Given the description of an element on the screen output the (x, y) to click on. 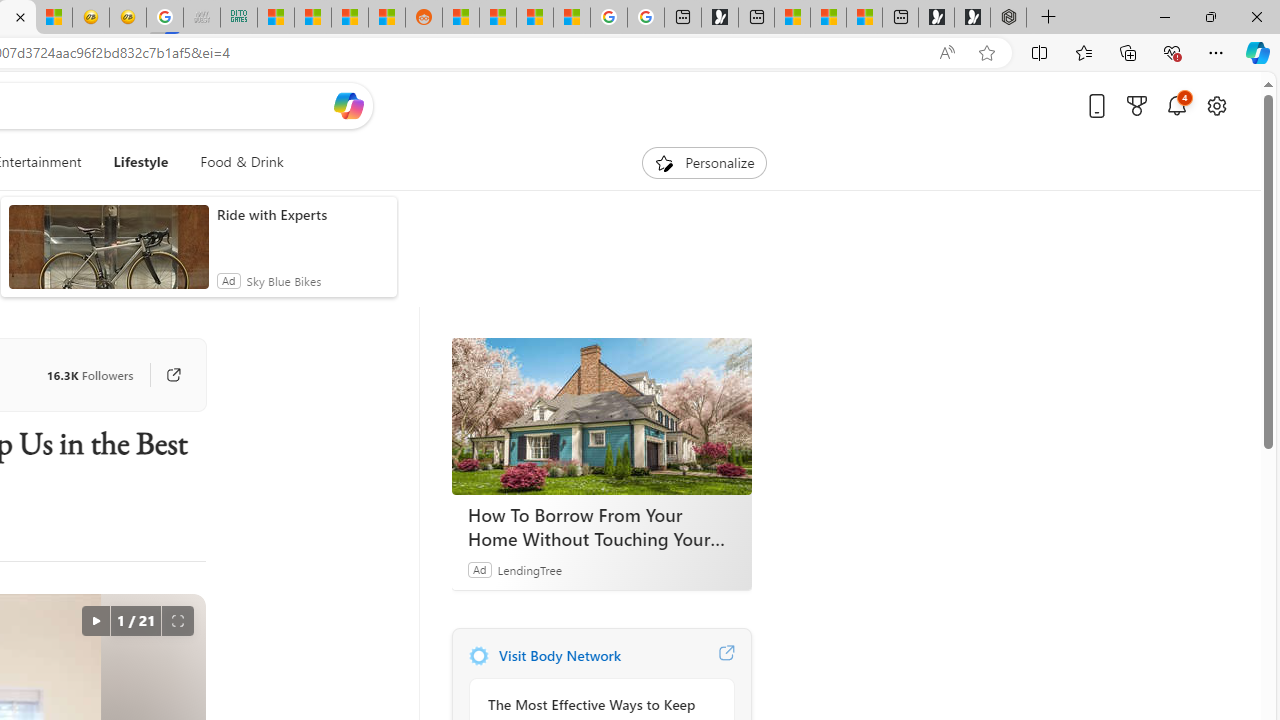
R******* | Trusted Community Engagement and Contributions (460, 17)
